Given the description of an element on the screen output the (x, y) to click on. 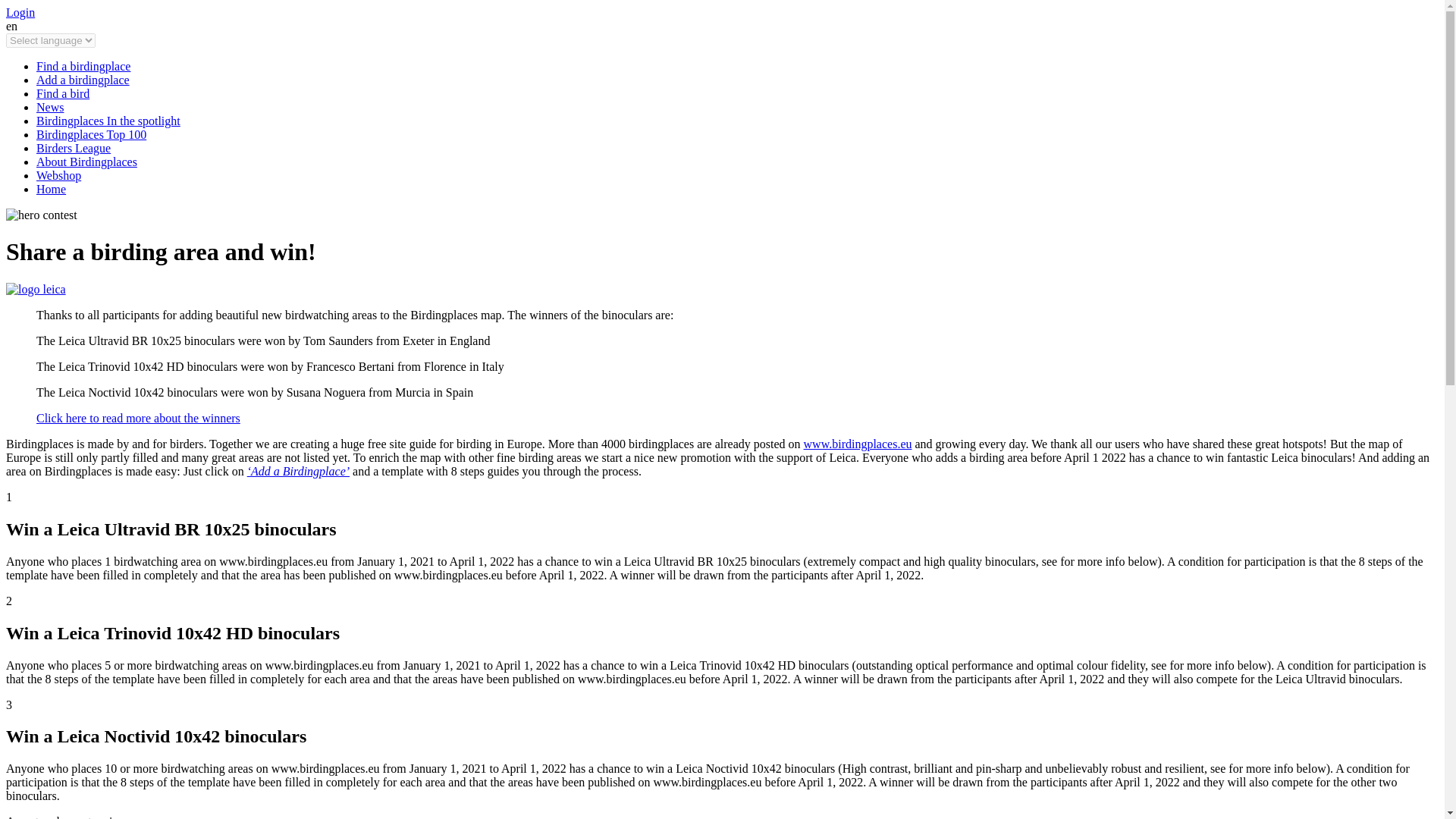
Login (19, 11)
Webshop (58, 174)
www.birdingplaces.eu (857, 443)
Find a birdingplace (83, 65)
About Birdingplaces (86, 161)
Find a bird (62, 92)
Click here to read more about the winners (138, 418)
Birdingplaces Top 100 (91, 133)
Birders League (73, 147)
Home (50, 188)
News (50, 106)
Add a birdingplace (82, 79)
Birdingplaces In the spotlight (108, 120)
